Given the description of an element on the screen output the (x, y) to click on. 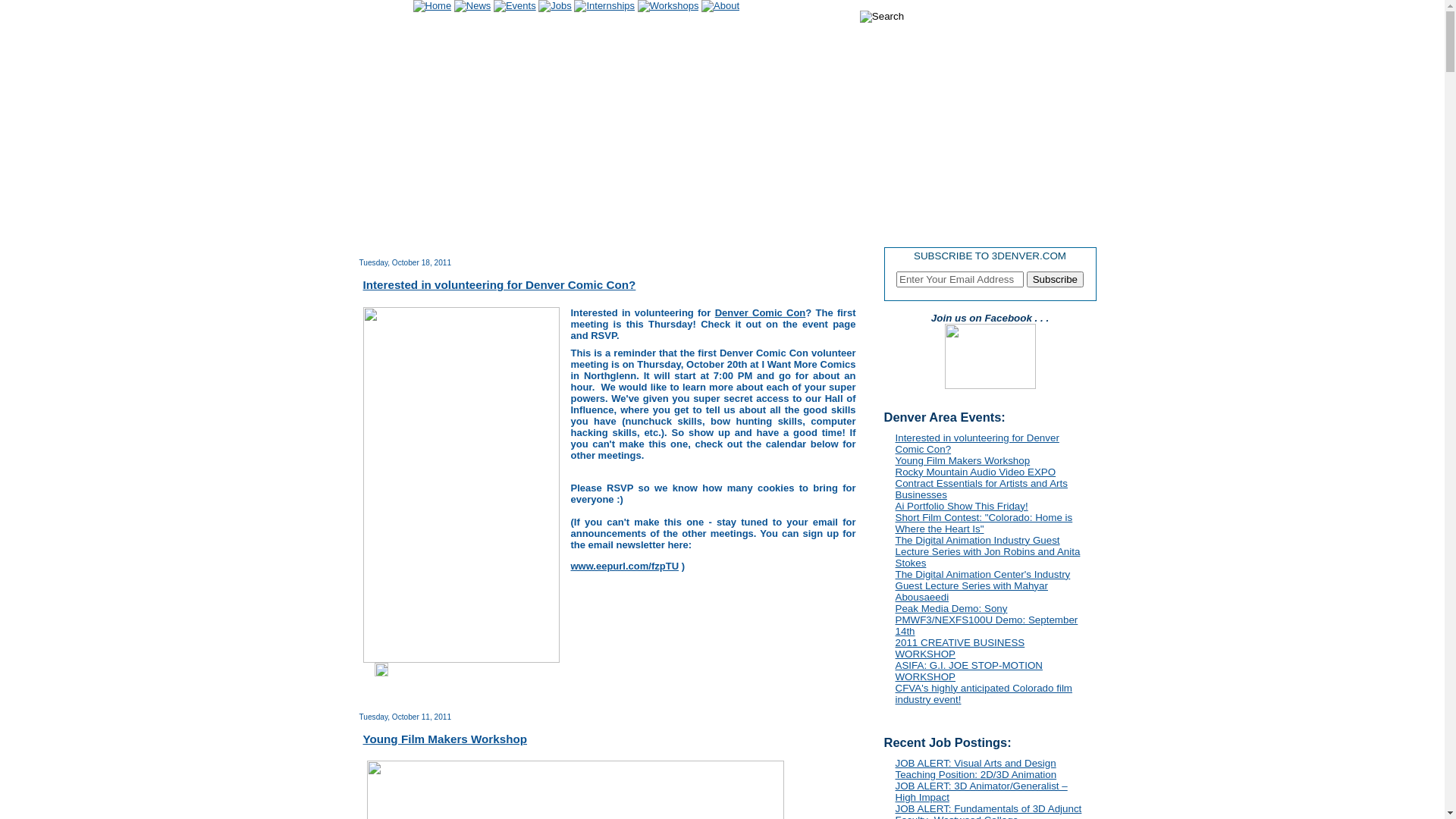
Edit Post Element type: hover (381, 672)
3Denver.com Element type: hover (989, 385)
Young Film Makers Workshop Element type: text (961, 460)
Interested in volunteering for Denver Comic Con? Element type: text (498, 284)
Young Film Makers Workshop Element type: text (444, 738)
Denver Comic Con Element type: text (760, 313)
Peak Media Demo: Sony PMWF3/NEXFS100U Demo: September 14th Element type: text (985, 619)
Ai Portfolio Show This Friday! Element type: text (960, 505)
2011 CREATIVE BUSINESS WORKSHOP Element type: text (959, 648)
Rocky Mountain Audio Video EXPO Element type: text (974, 471)
Short Film Contest: "Colorado: Home is Where the Heart Is" Element type: text (983, 522)
Contract Essentials for Artists and Arts Businesses Element type: text (980, 488)
ASIFA: G.I. JOE STOP-MOTION WORKSHOP Element type: text (967, 670)
Subscribe Element type: text (1054, 279)
Interested in volunteering for Denver Comic Con? Element type: text (976, 443)
www.eepurl.com/fzpTU Element type: text (624, 565)
CFVA's highly anticipated Colorado film industry event! Element type: text (983, 693)
